Given the description of an element on the screen output the (x, y) to click on. 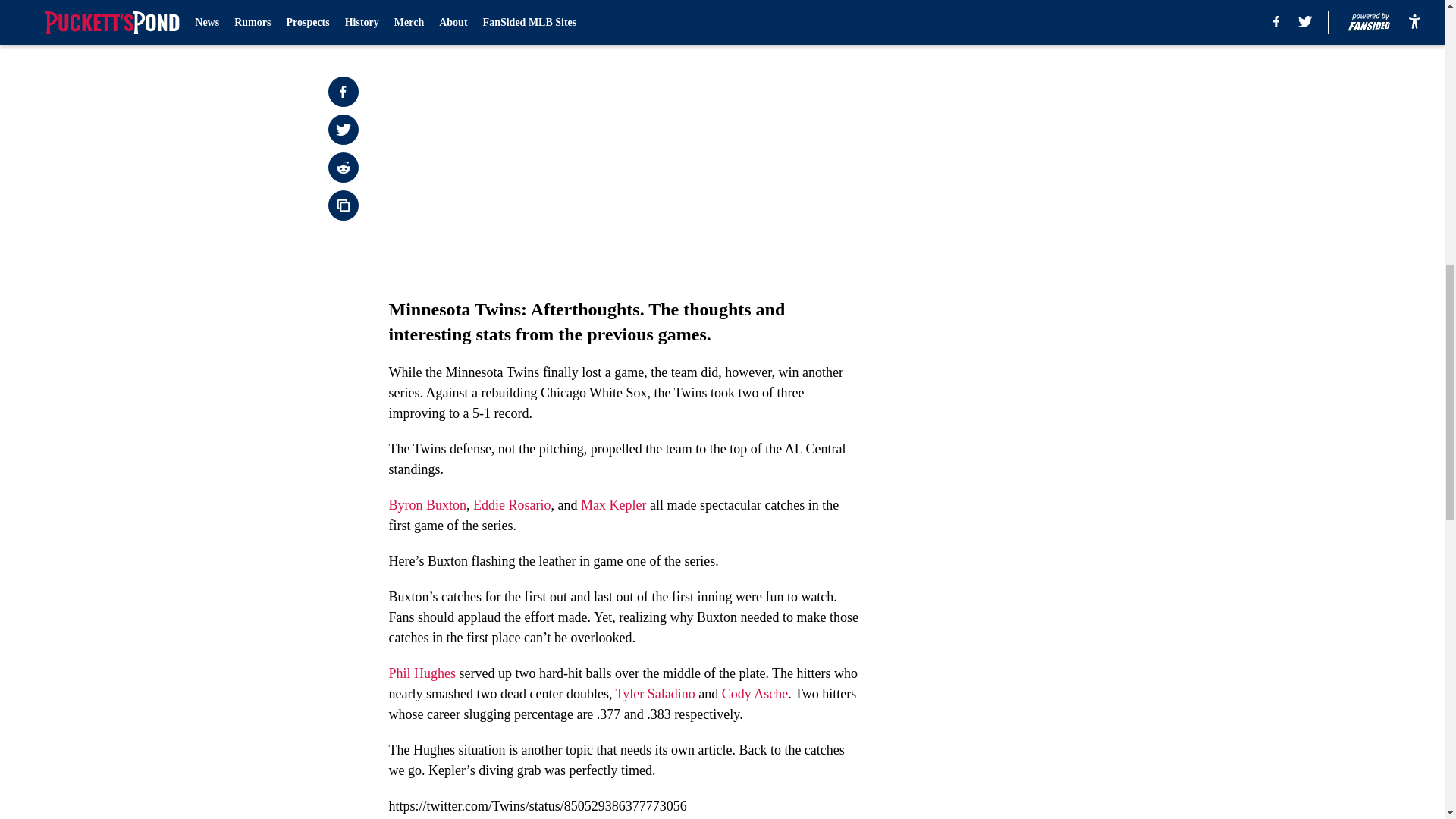
Cody Asche (755, 693)
Max Kepler (613, 504)
Phil Hughes (421, 672)
Tyler Saladino (655, 693)
Byron Buxton (426, 504)
Eddie Rosario (511, 504)
